Given the description of an element on the screen output the (x, y) to click on. 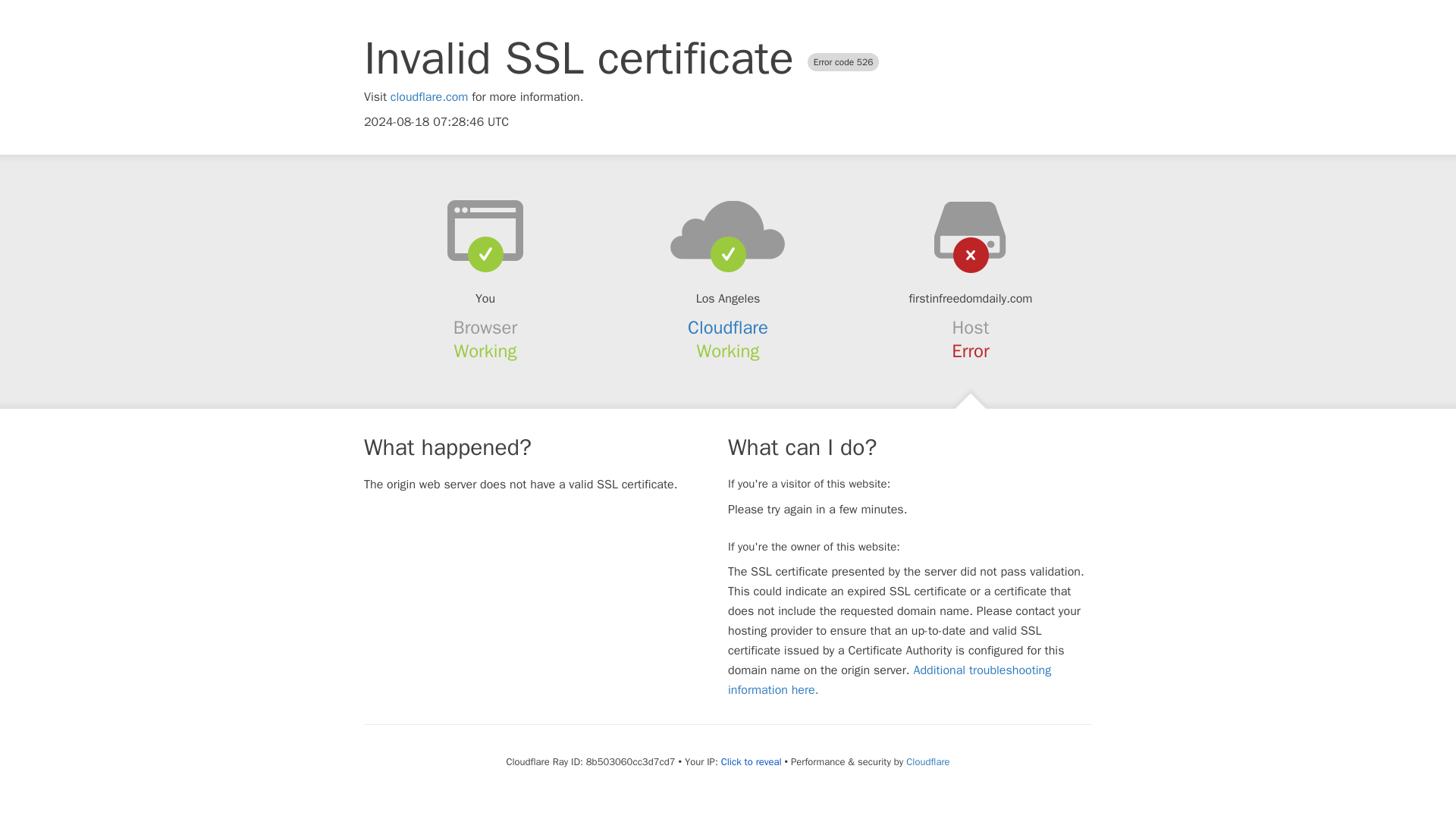
Click to reveal (750, 762)
Cloudflare (927, 761)
Additional troubleshooting information here. (889, 679)
cloudflare.com (429, 96)
Cloudflare (727, 327)
